Given the description of an element on the screen output the (x, y) to click on. 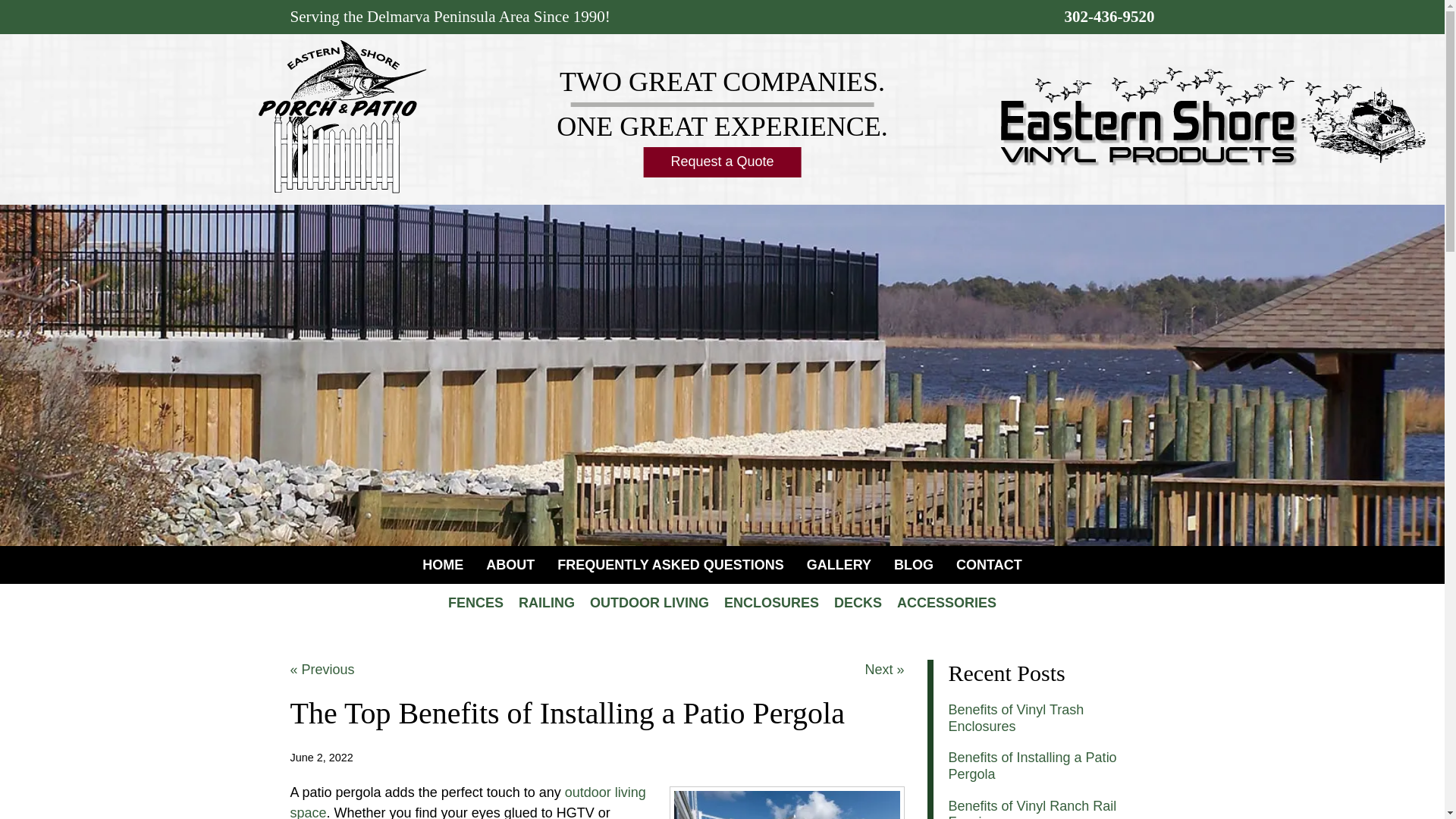
Request a Quote (721, 162)
ABOUT (510, 564)
HOME (442, 564)
FREQUENTLY ASKED QUESTIONS (670, 564)
GALLERY (838, 564)
CONTACT (988, 564)
BLOG (913, 564)
FENCES (476, 602)
